Given the description of an element on the screen output the (x, y) to click on. 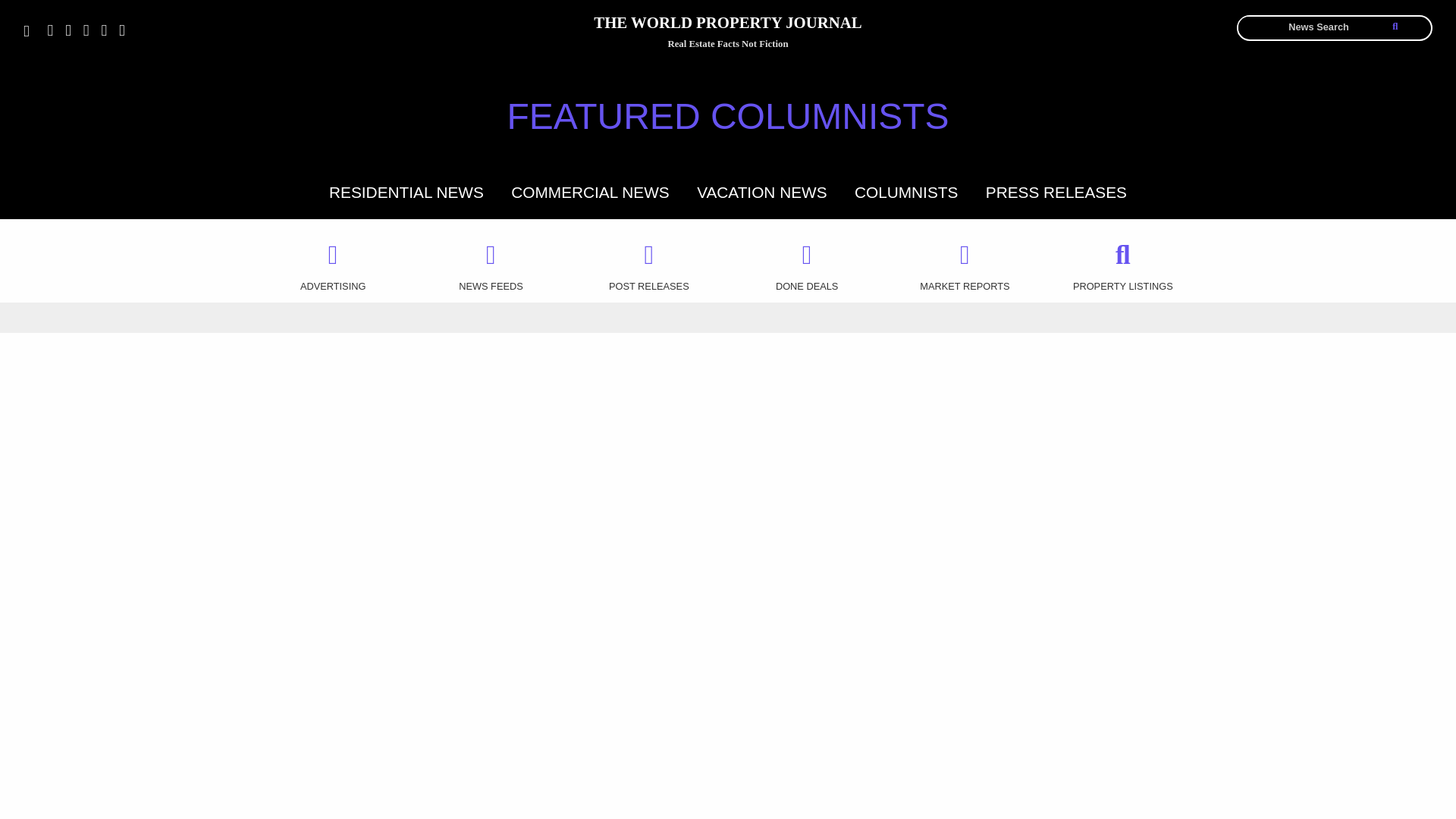
COLUMNISTS (906, 191)
THE WORLD PROPERTY JOURNAL (726, 25)
VACATION NEWS (762, 191)
PRESS RELEASES (1055, 191)
COMMERCIAL NEWS (589, 191)
RESIDENTIAL NEWS (406, 191)
